Given the description of an element on the screen output the (x, y) to click on. 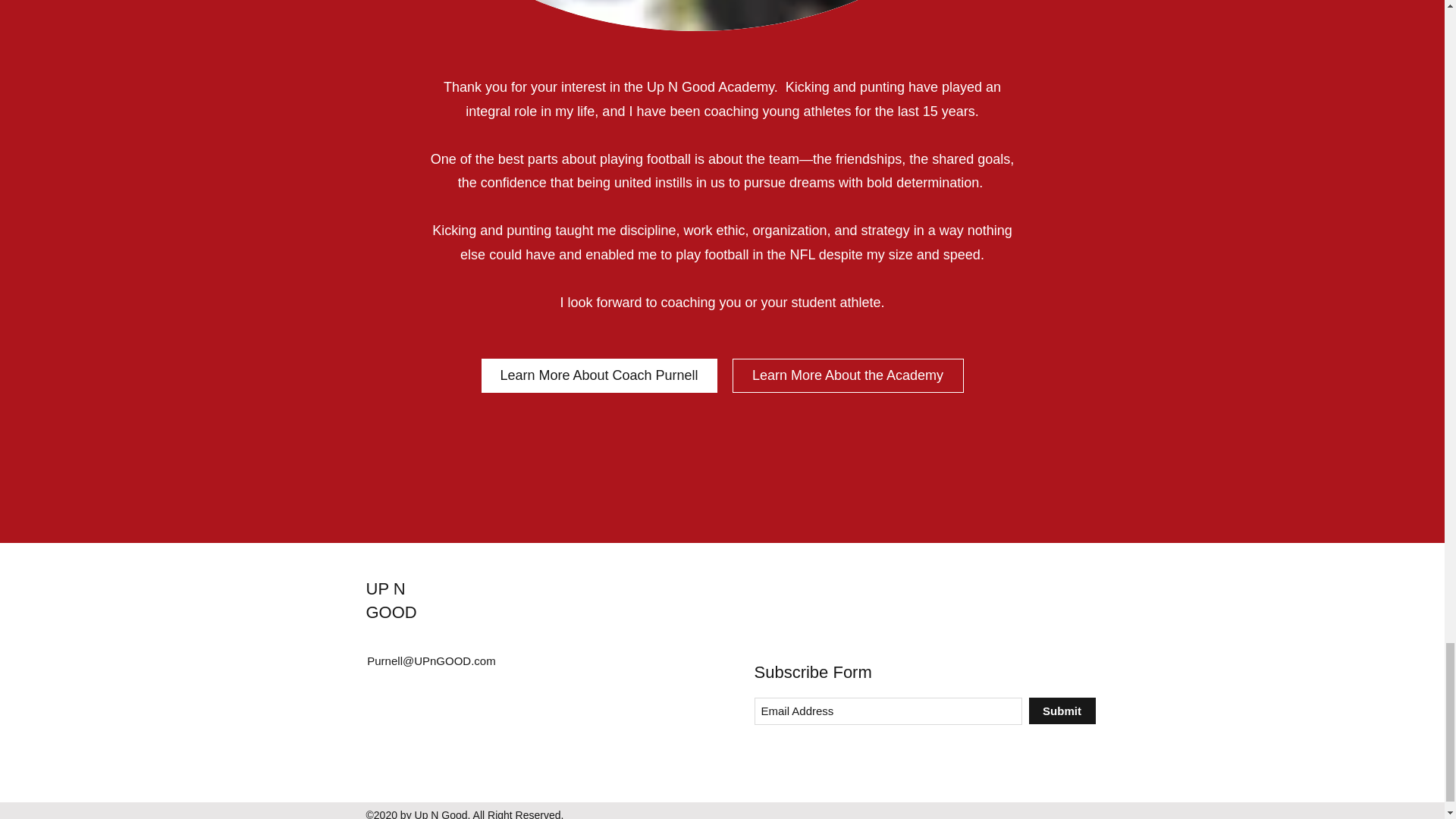
Learn More About Coach Purnell (598, 375)
UP N GOOD (390, 600)
Learn More About the Academy (847, 375)
Submit (1060, 710)
